Given the description of an element on the screen output the (x, y) to click on. 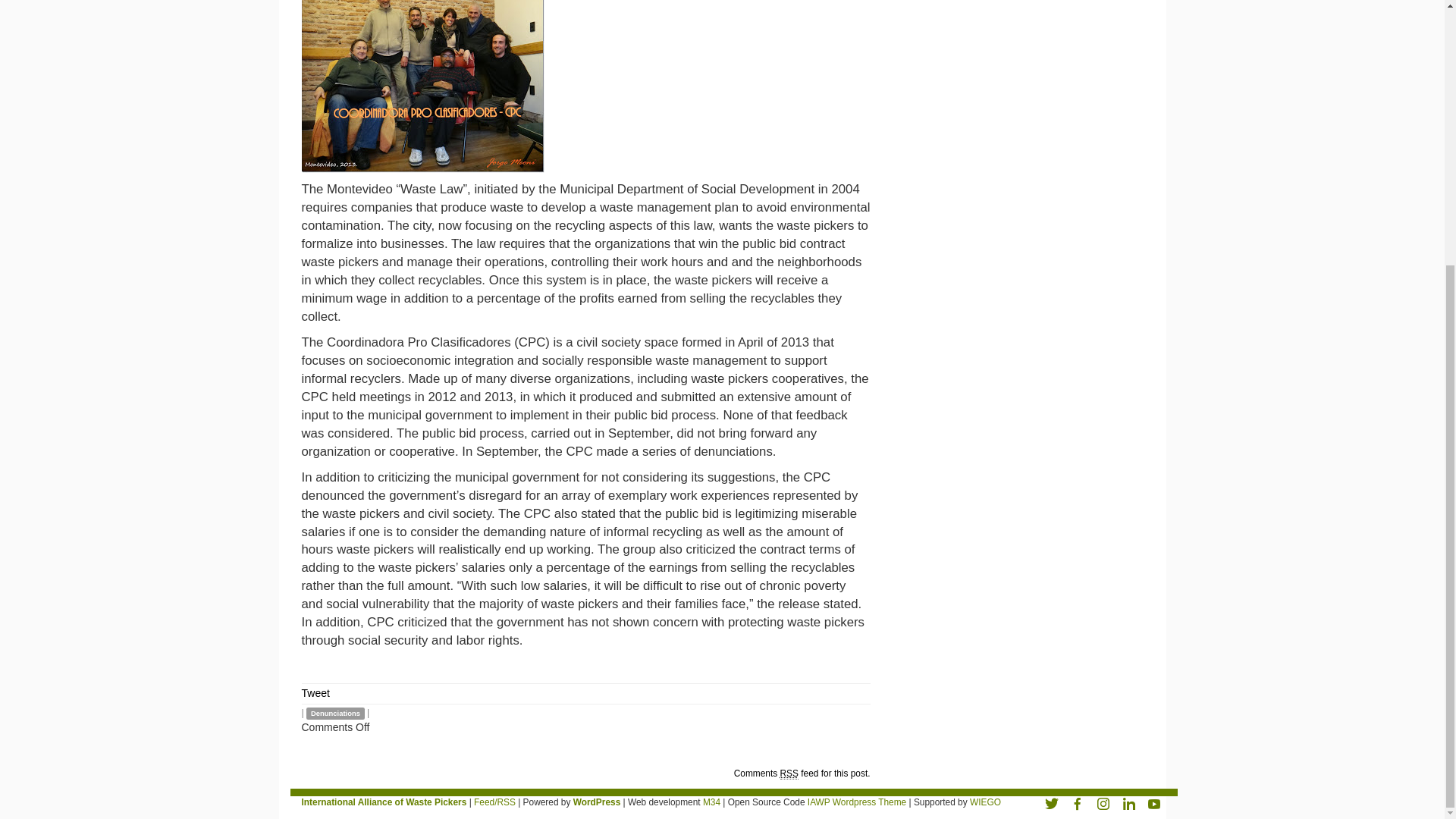
View all posts in Denunciations (334, 713)
montera34 (711, 801)
Twitter International Alliance of Waste Pickers (1051, 802)
Really Simple Syndication (788, 773)
